Given the description of an element on the screen output the (x, y) to click on. 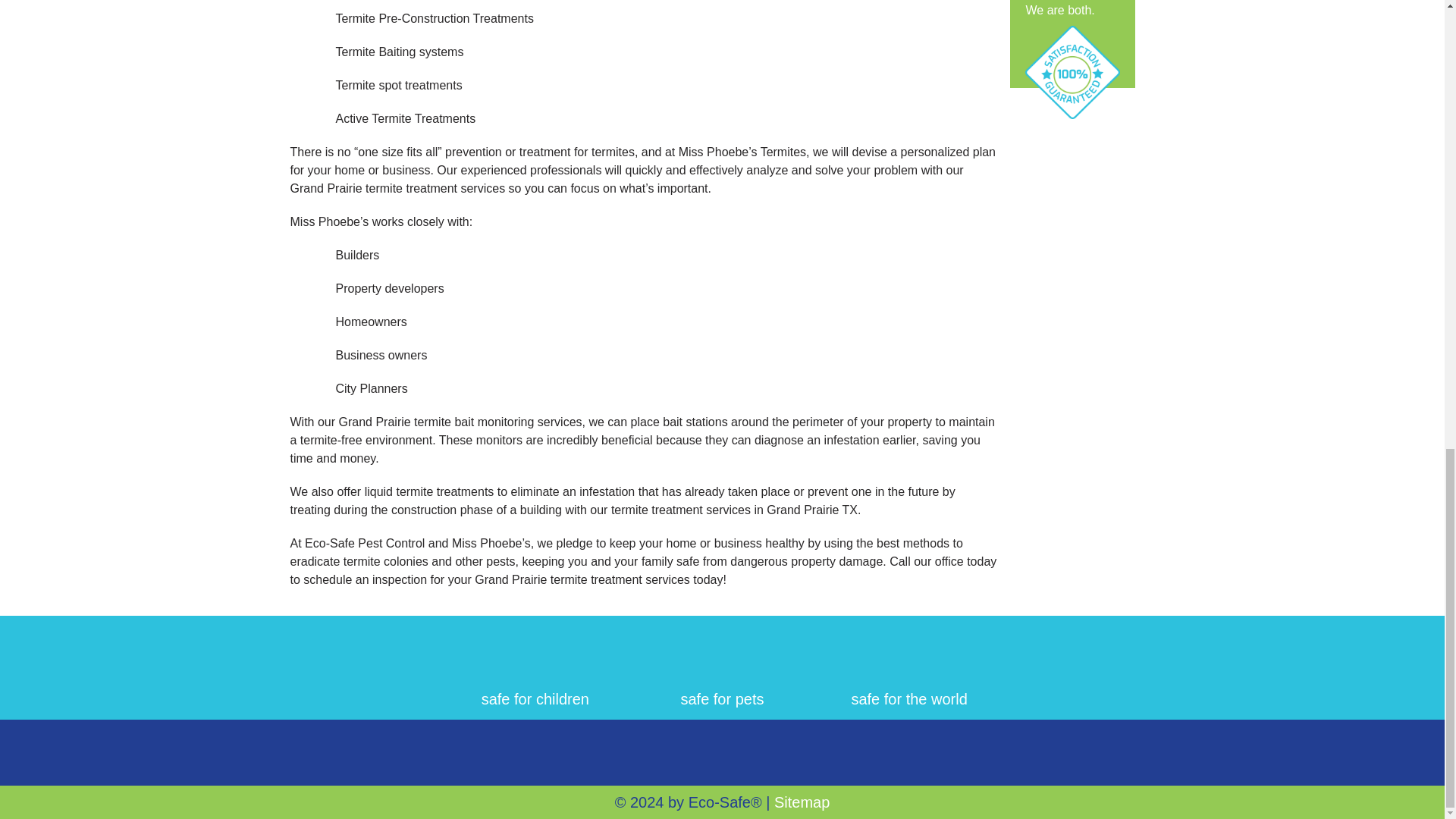
LinkedIn (722, 751)
Instagram (810, 751)
Facebook (633, 751)
